Given the description of an element on the screen output the (x, y) to click on. 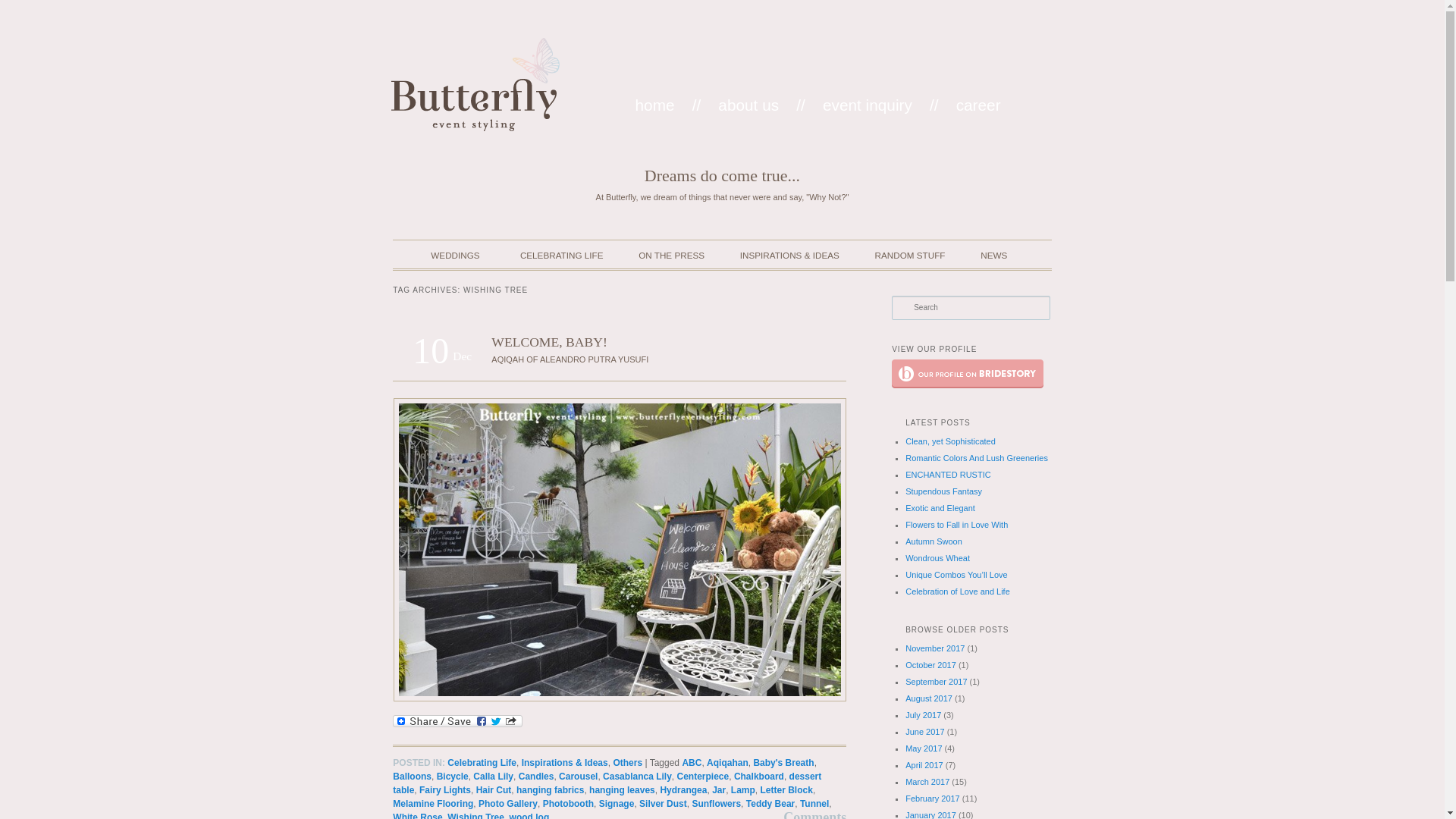
       WEDDINGS (446, 260)
Balloons (411, 776)
NEWS (993, 260)
Casablanca Lily (636, 776)
  CELEBRATING LIFE (559, 260)
WELCOME, BABY! (549, 341)
Aqiqahan (727, 762)
Permalink to Welcome, Baby! (549, 341)
Butterfly Event Styling (474, 83)
ABC (691, 762)
POSTED IN: (419, 762)
dessert table (607, 783)
Baby's Breath (782, 762)
Others (627, 762)
Chalkboard (758, 776)
